Given the description of an element on the screen output the (x, y) to click on. 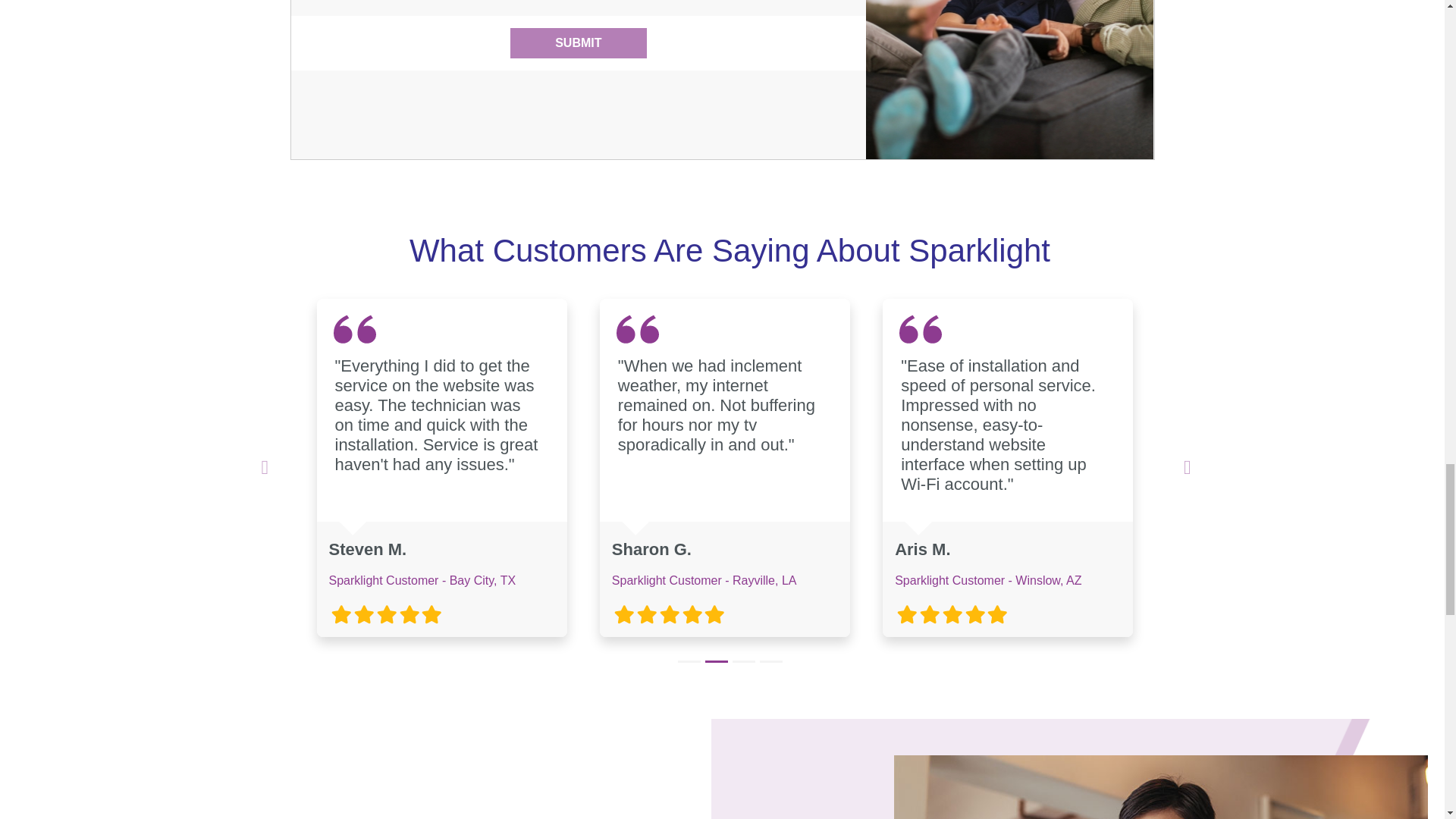
Next (1187, 467)
Previous (265, 467)
Submit (578, 42)
Submit (578, 42)
